Given the description of an element on the screen output the (x, y) to click on. 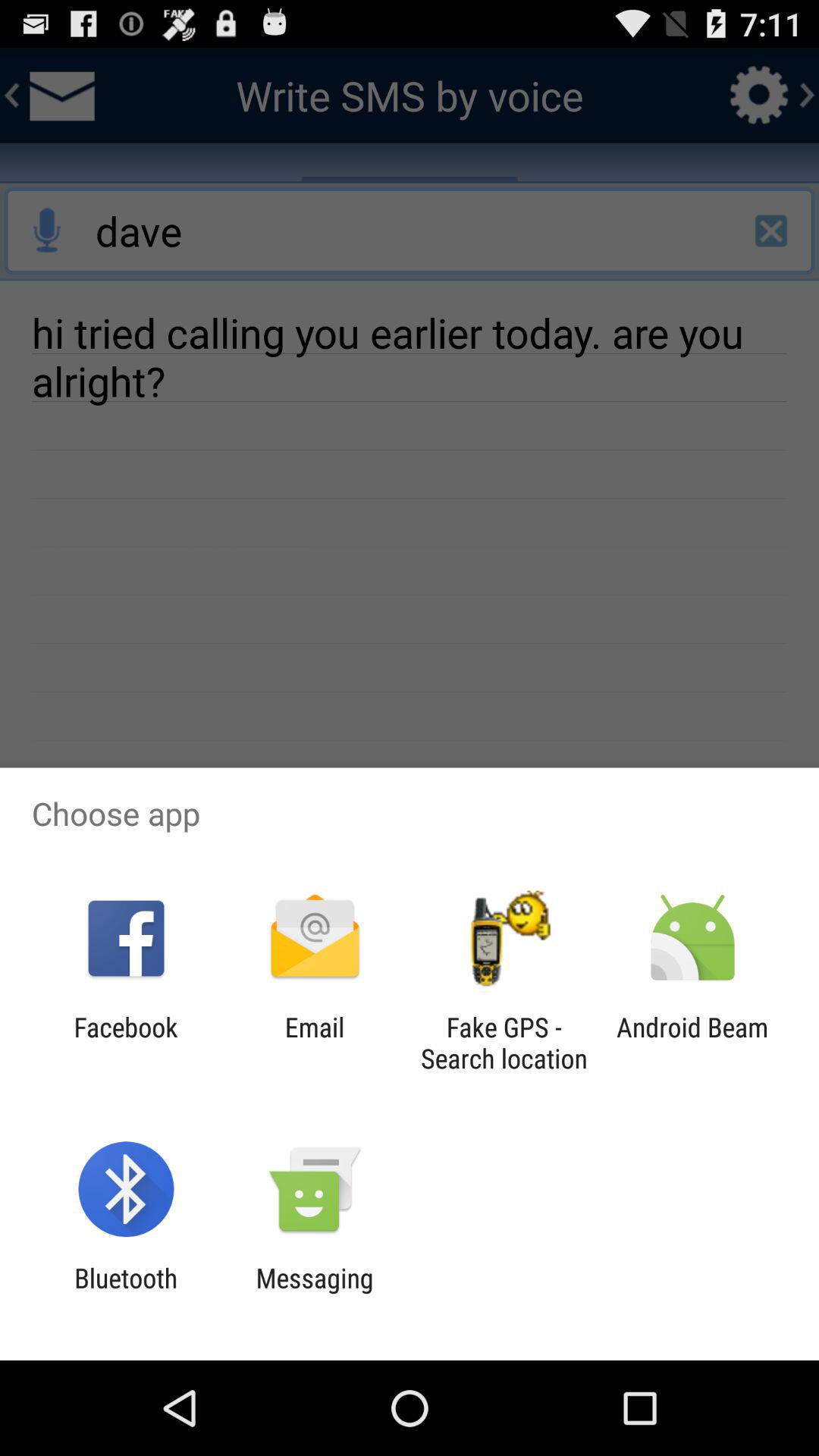
turn off the facebook item (125, 1042)
